Given the description of an element on the screen output the (x, y) to click on. 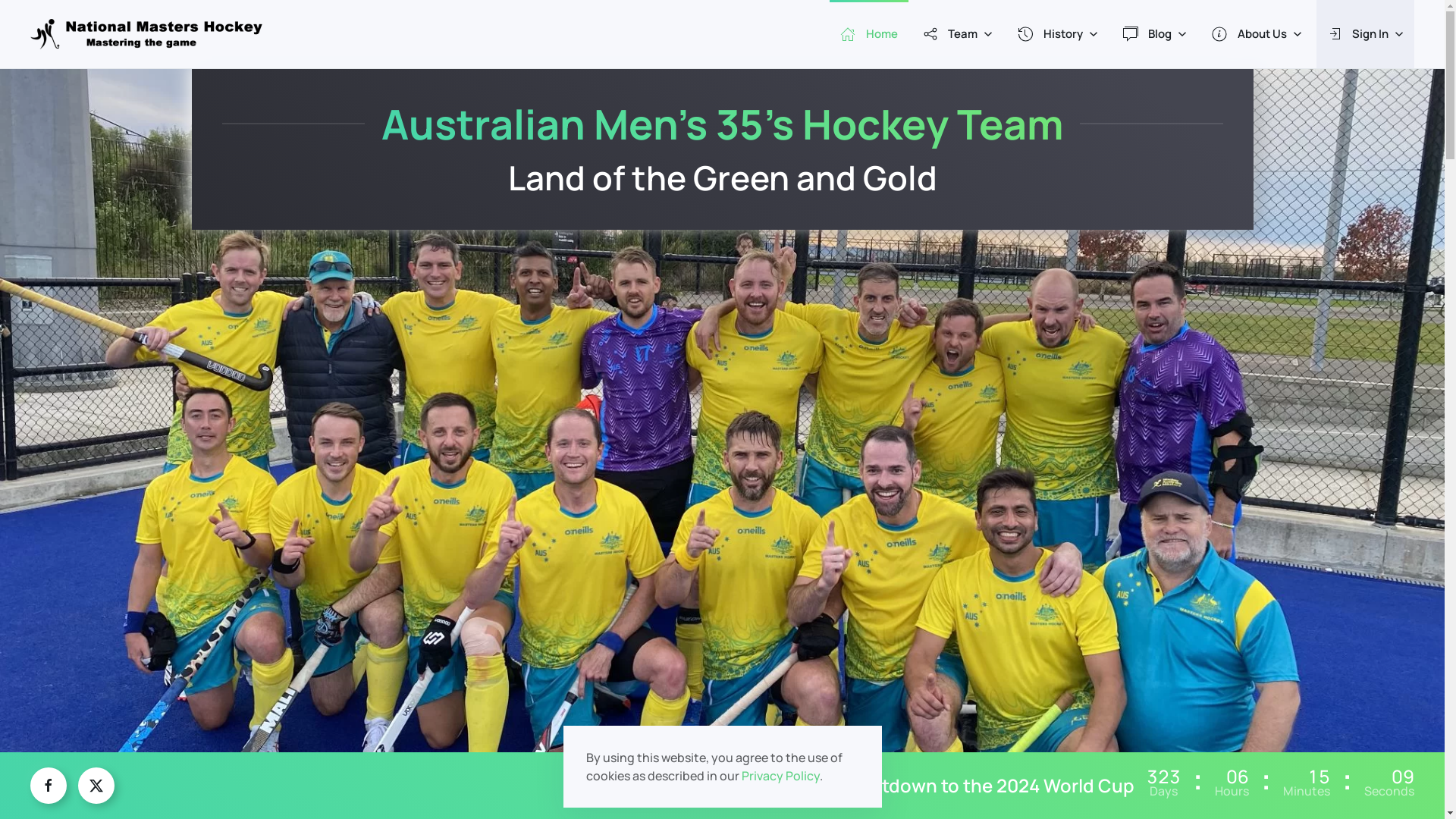
Privacy Policy Element type: text (780, 775)
Home Element type: text (868, 34)
History Element type: text (1057, 34)
Blog Element type: text (1154, 34)
Team Element type: text (957, 34)
Sign In Element type: text (1365, 34)
About Us Element type: text (1256, 34)
